Given the description of an element on the screen output the (x, y) to click on. 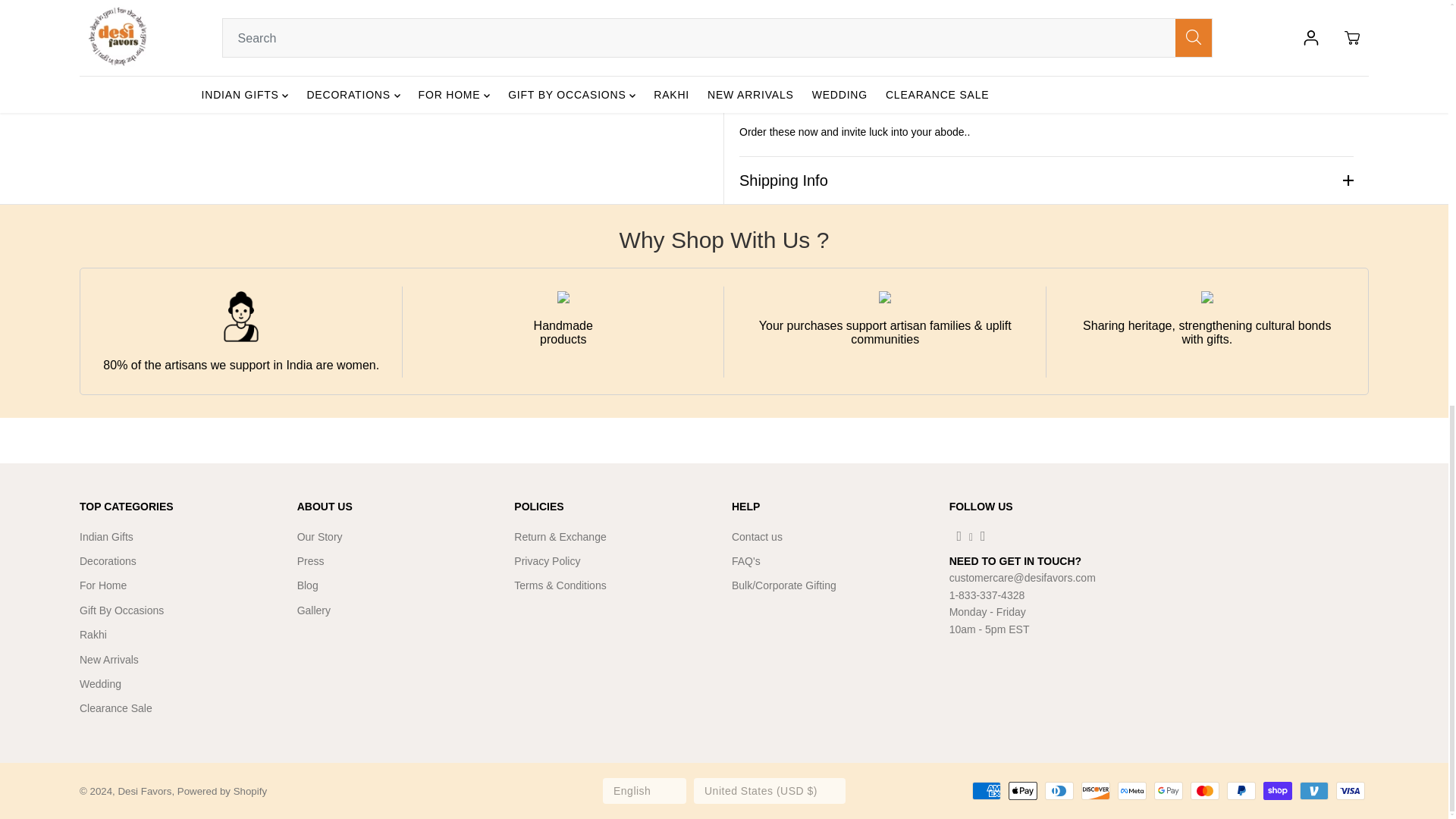
Diners Club (1059, 791)
Discover (1095, 791)
PayPal (1241, 791)
American Express (986, 791)
Mastercard (1205, 791)
Meta Pay (1132, 791)
Shop Pay (1277, 791)
Apple Pay (1022, 791)
Google Pay (1168, 791)
